Given the description of an element on the screen output the (x, y) to click on. 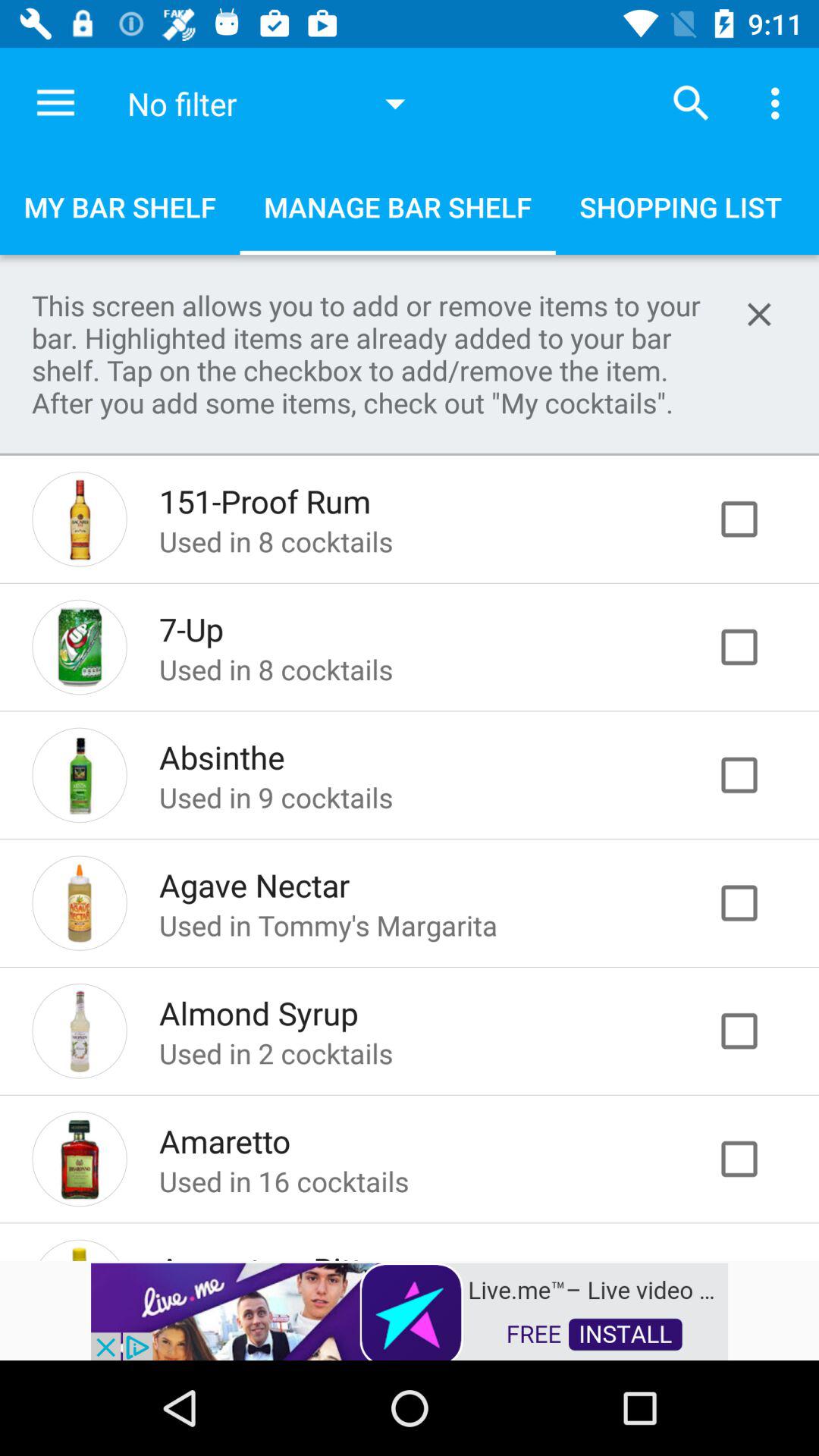
check box option (755, 518)
